Given the description of an element on the screen output the (x, y) to click on. 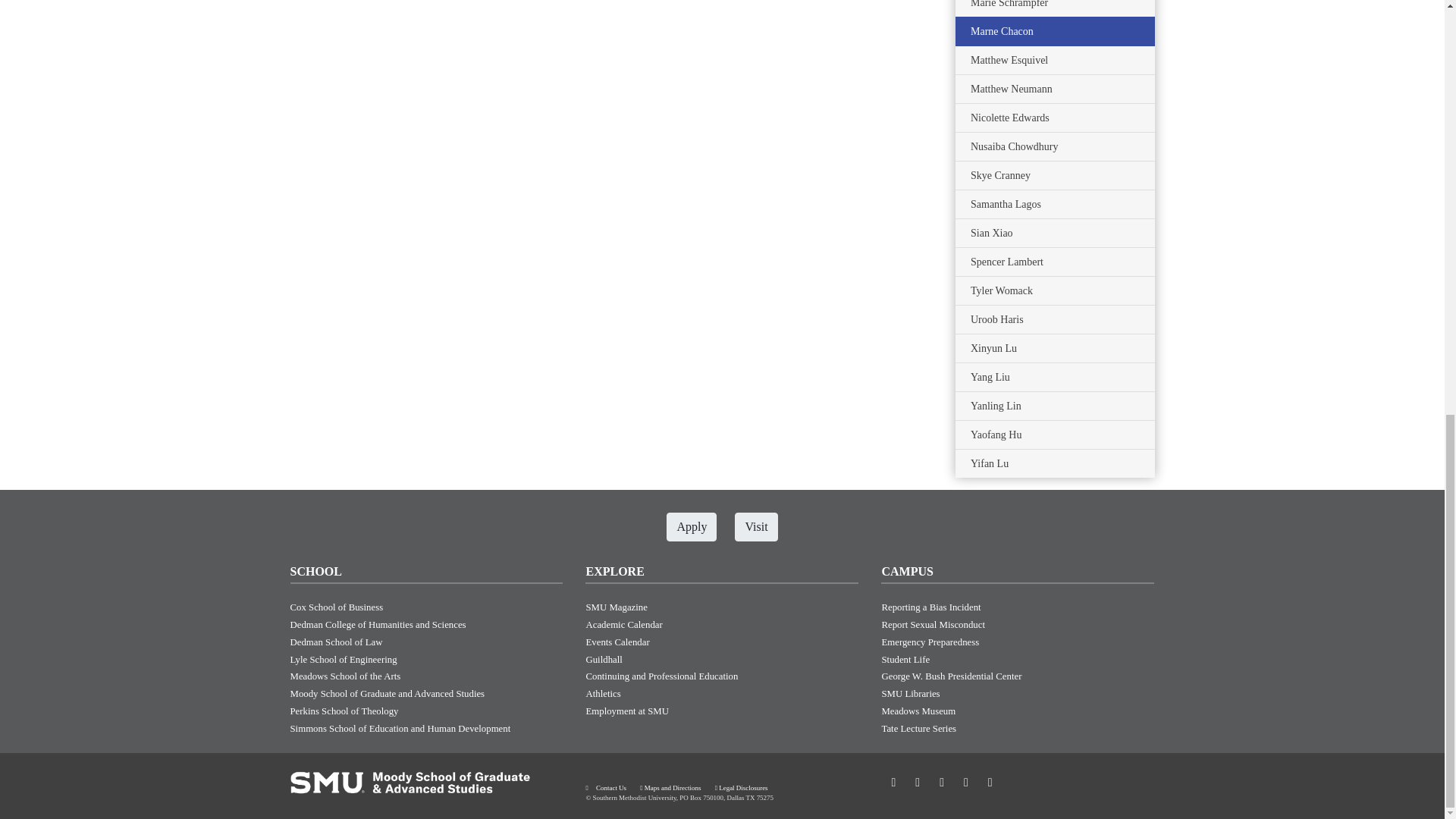
Cox School of Business (335, 606)
Meadows School of the Arts (344, 675)
Dedman School of Law (335, 642)
Lyle School of Engineering (342, 659)
Moody School of Graduate and Advanced Studies (386, 693)
Dedman College of Humanities and Sciences (377, 624)
